Given the description of an element on the screen output the (x, y) to click on. 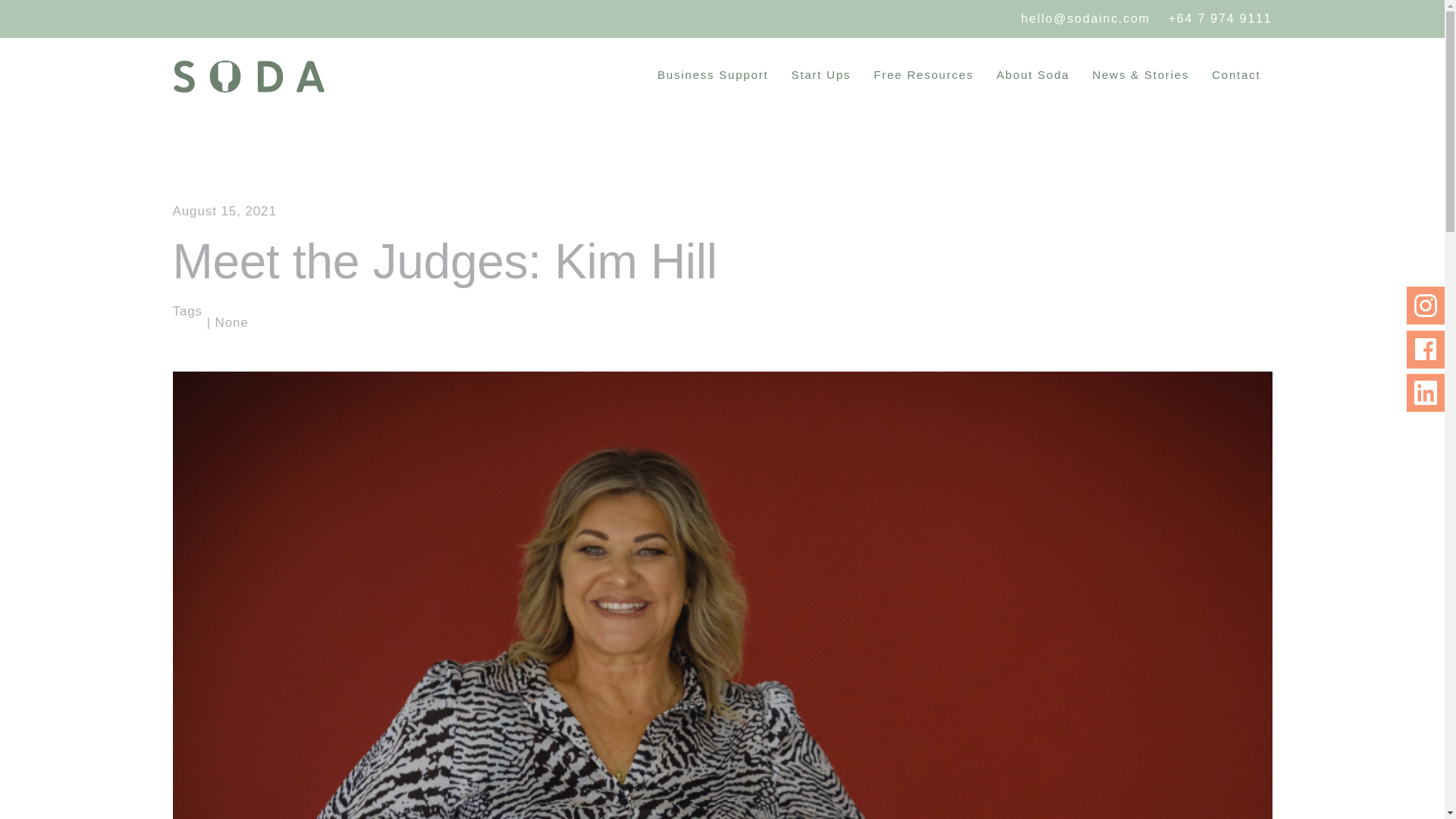
Free Resources (923, 74)
About Soda (1032, 74)
Business Support (712, 74)
Contact (1235, 74)
visit home page (248, 76)
